Given the description of an element on the screen output the (x, y) to click on. 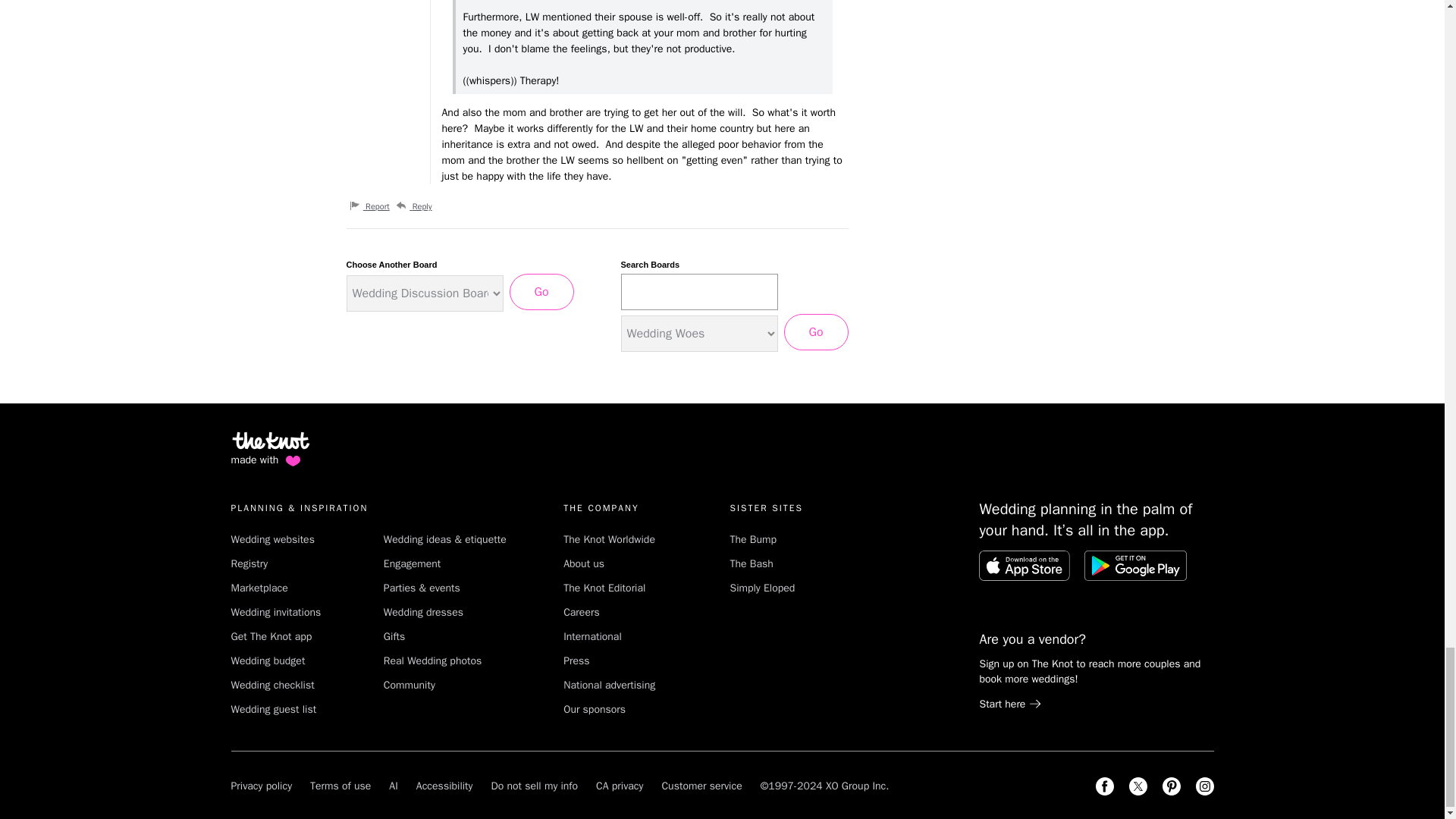
Go (816, 331)
love (292, 460)
Go (541, 291)
